Given the description of an element on the screen output the (x, y) to click on. 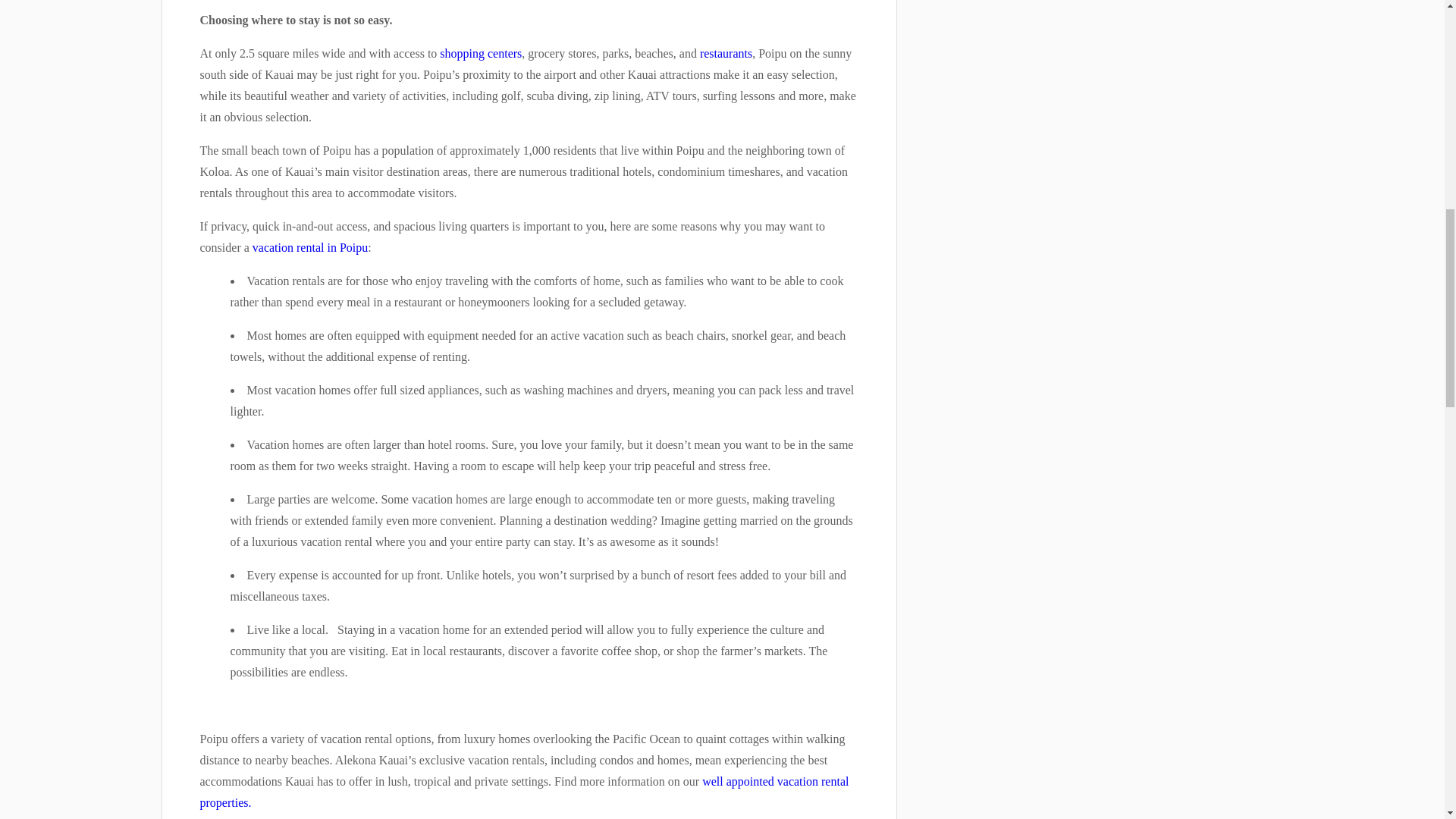
shopping centers (480, 52)
well appointed vacation rental properties. (524, 791)
vacation rental in Poipu (309, 246)
restaurants (726, 52)
